Given the description of an element on the screen output the (x, y) to click on. 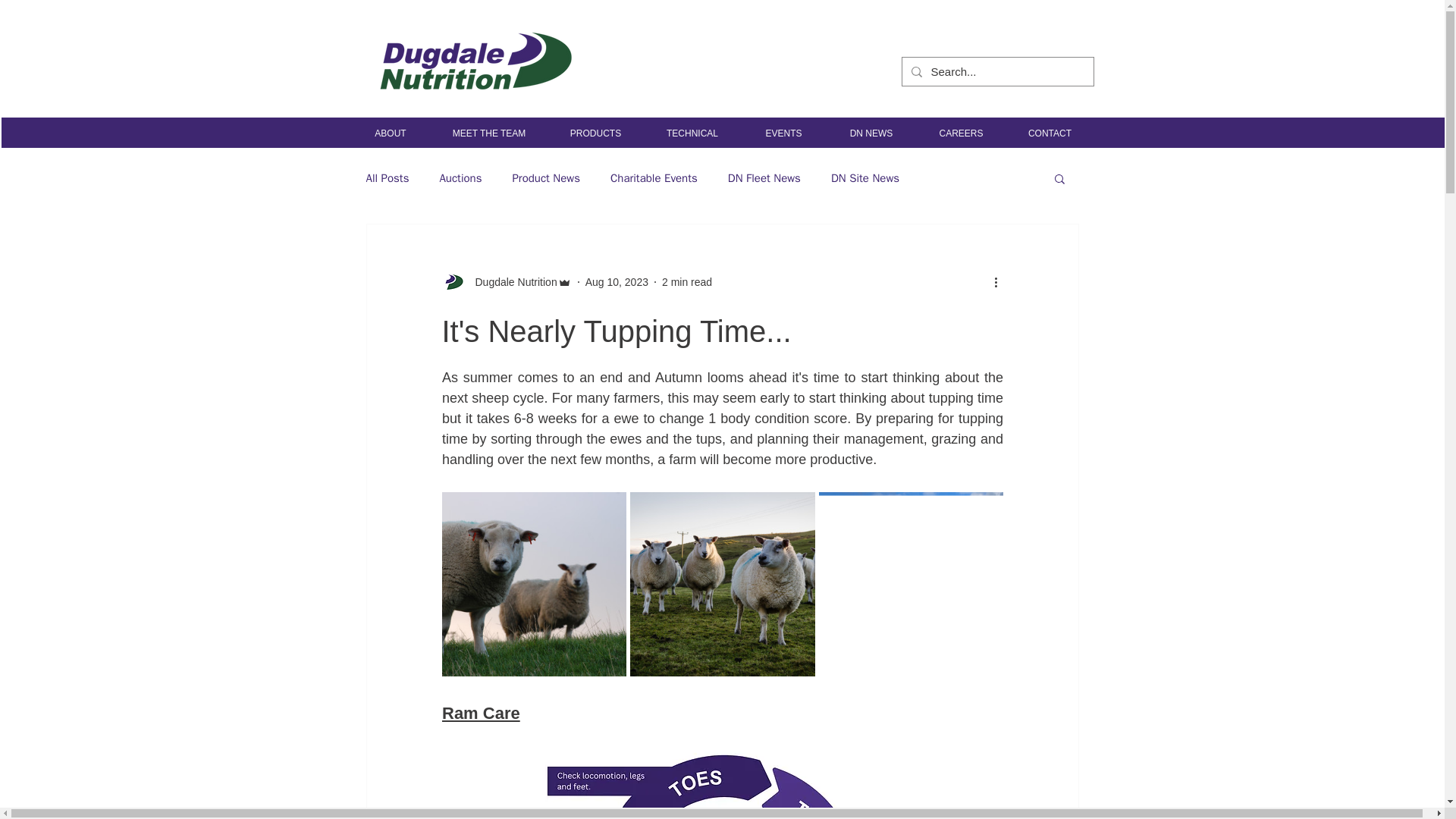
CONTACT (1049, 133)
PRODUCTS (595, 133)
DN NEWS (872, 133)
Product News (545, 178)
Charitable Events (653, 178)
DN Site News (865, 178)
All Posts (387, 178)
Dugdale Nutrition (505, 282)
EVENTS (784, 133)
ABOUT (389, 133)
